Given the description of an element on the screen output the (x, y) to click on. 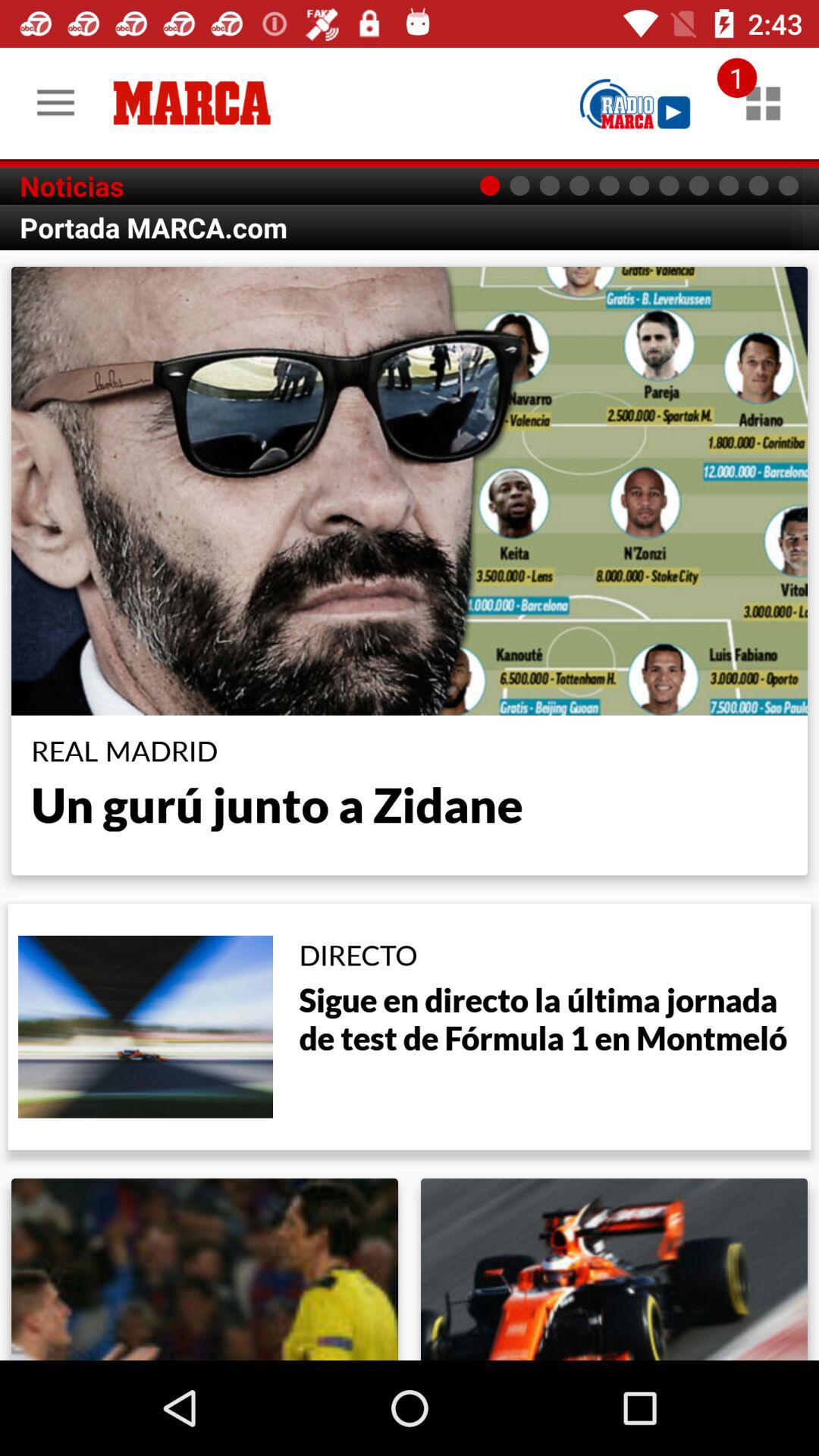
play the radio (635, 103)
